Given the description of an element on the screen output the (x, y) to click on. 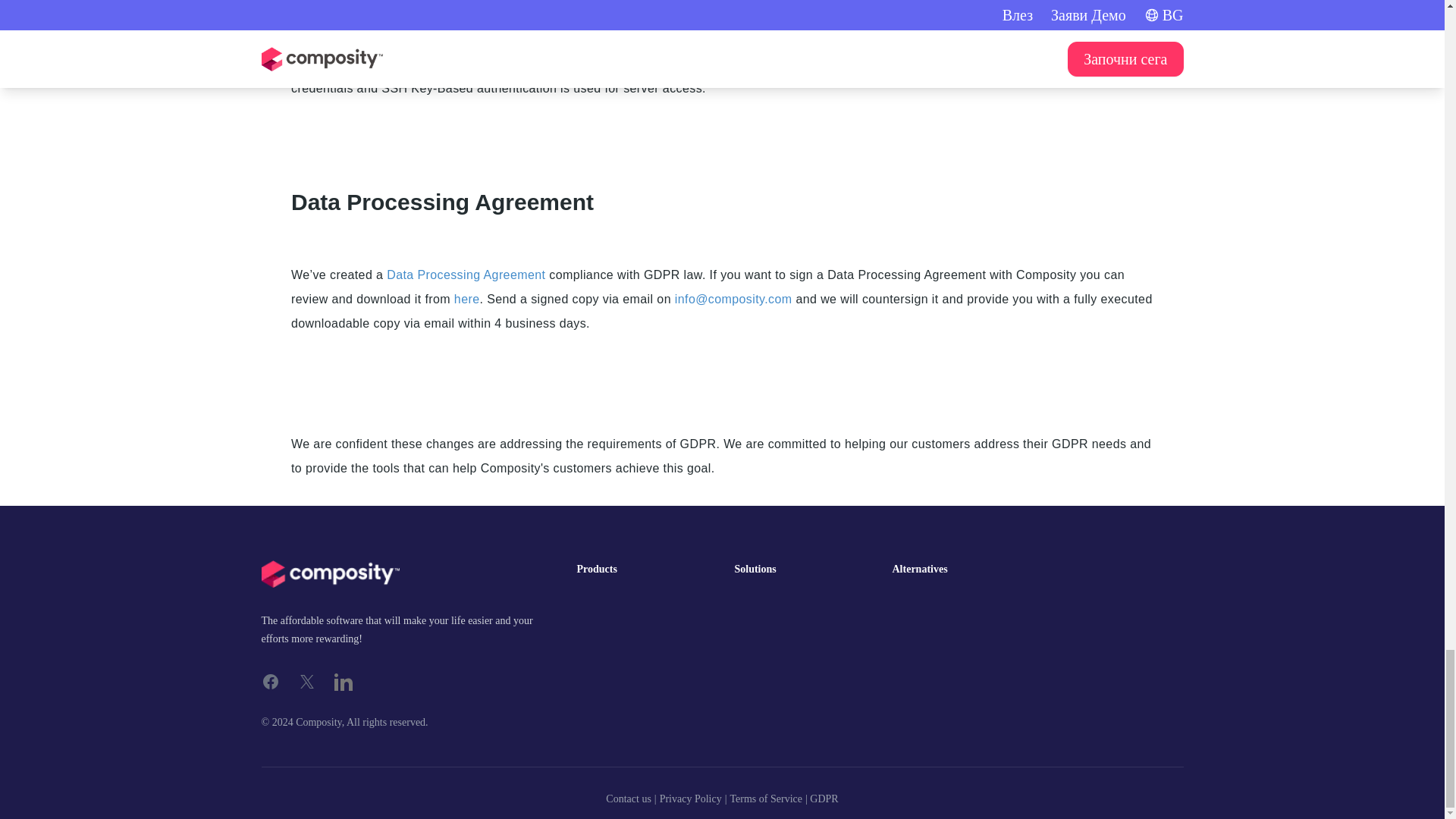
Contact us (627, 798)
Data Processing Agreement (465, 274)
Facebook (269, 681)
LinkedIn (342, 681)
Privacy Policy (690, 798)
Terms of Service (766, 798)
here (467, 298)
X (306, 681)
